Given the description of an element on the screen output the (x, y) to click on. 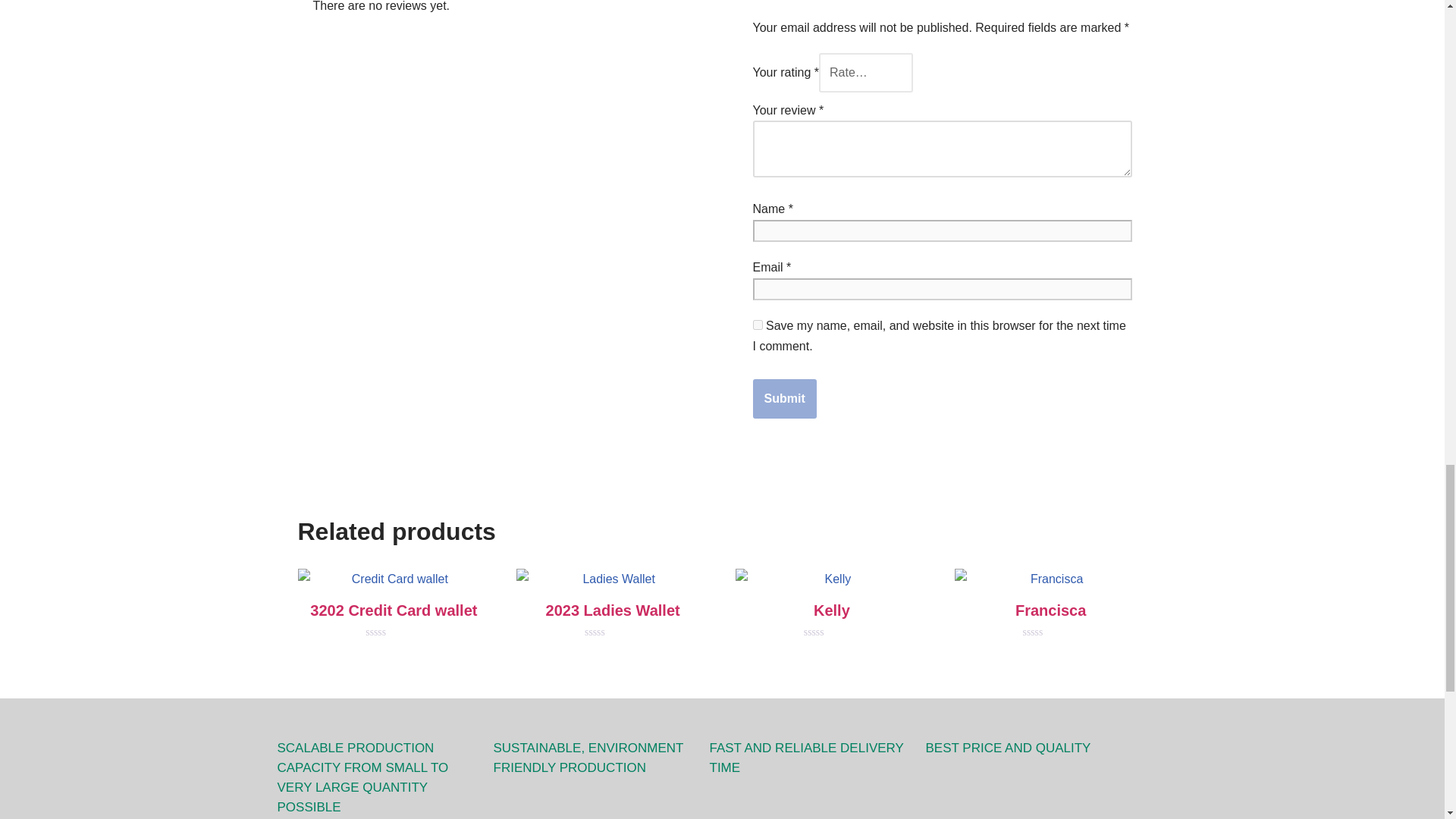
Submit (783, 398)
yes (756, 325)
